Given the description of an element on the screen output the (x, y) to click on. 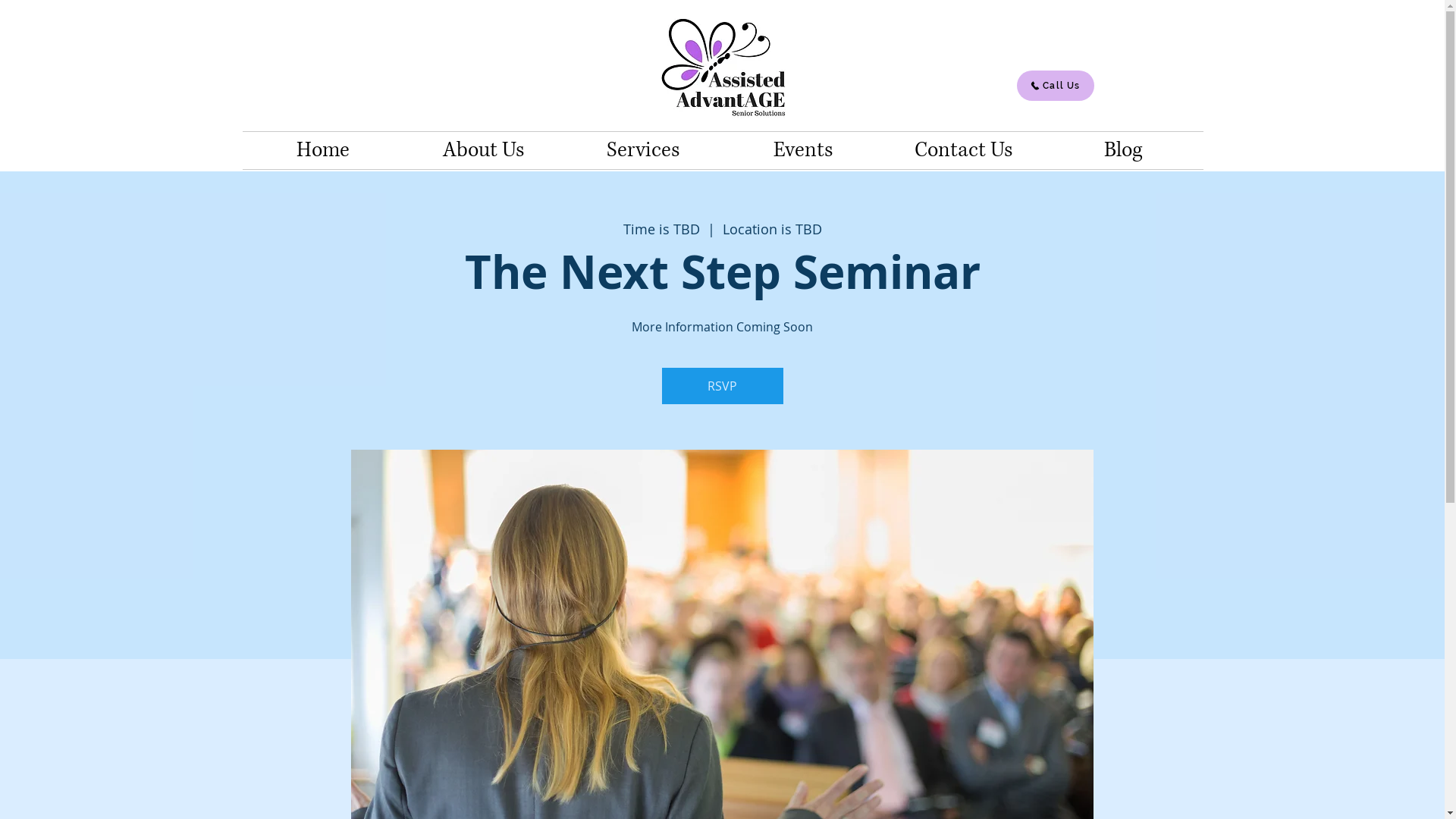
RSVP Element type: text (721, 385)
Services Element type: text (642, 150)
Events Element type: text (803, 150)
Call Us Element type: text (1054, 85)
Home Element type: text (322, 150)
Blog Element type: text (1123, 150)
About Us Element type: text (483, 150)
Contact Us Element type: text (962, 150)
